Given the description of an element on the screen output the (x, y) to click on. 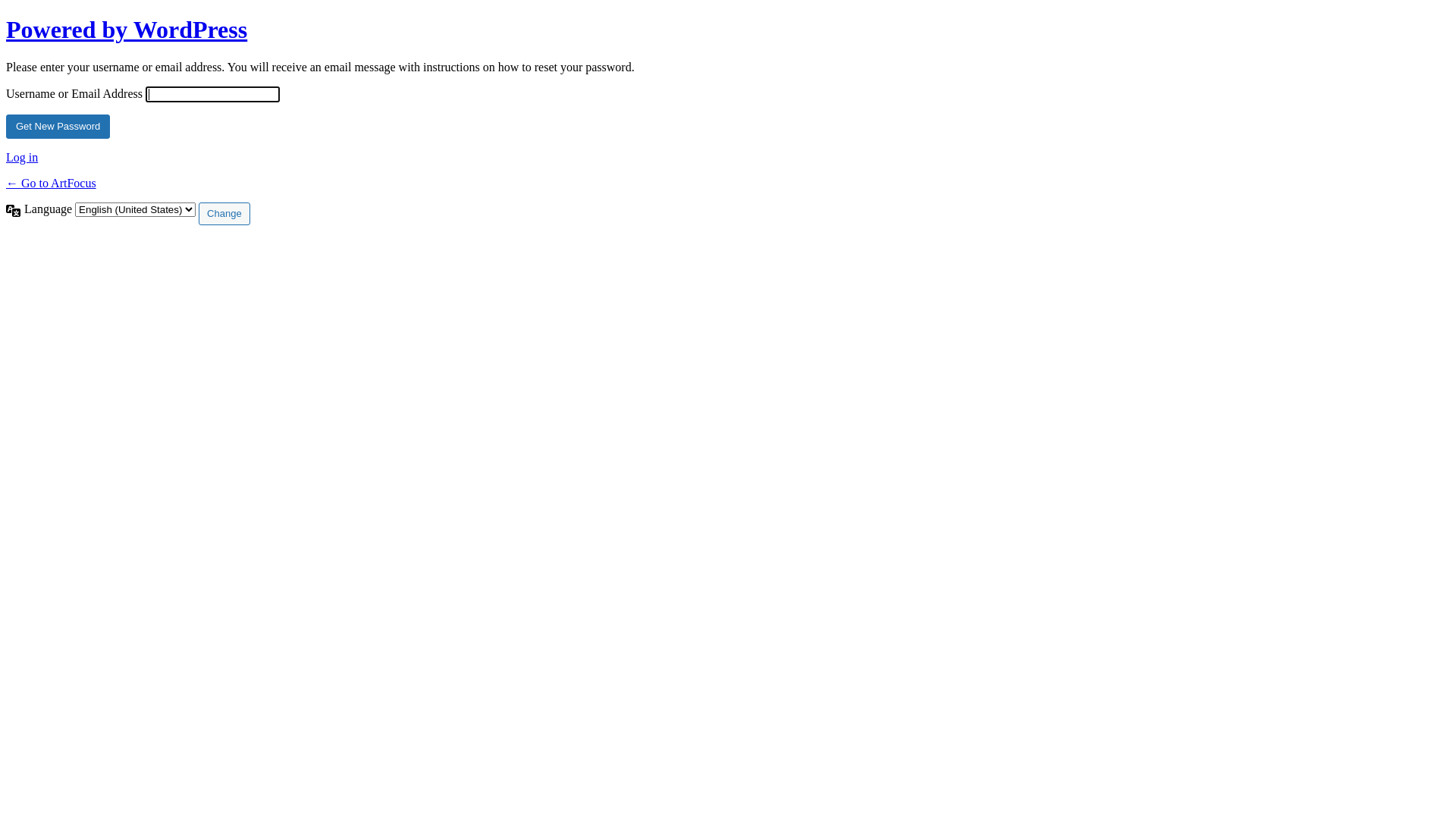
Get New Password Element type: text (57, 126)
Log in Element type: text (21, 156)
Change Element type: text (224, 213)
Powered by WordPress Element type: text (126, 29)
